Given the description of an element on the screen output the (x, y) to click on. 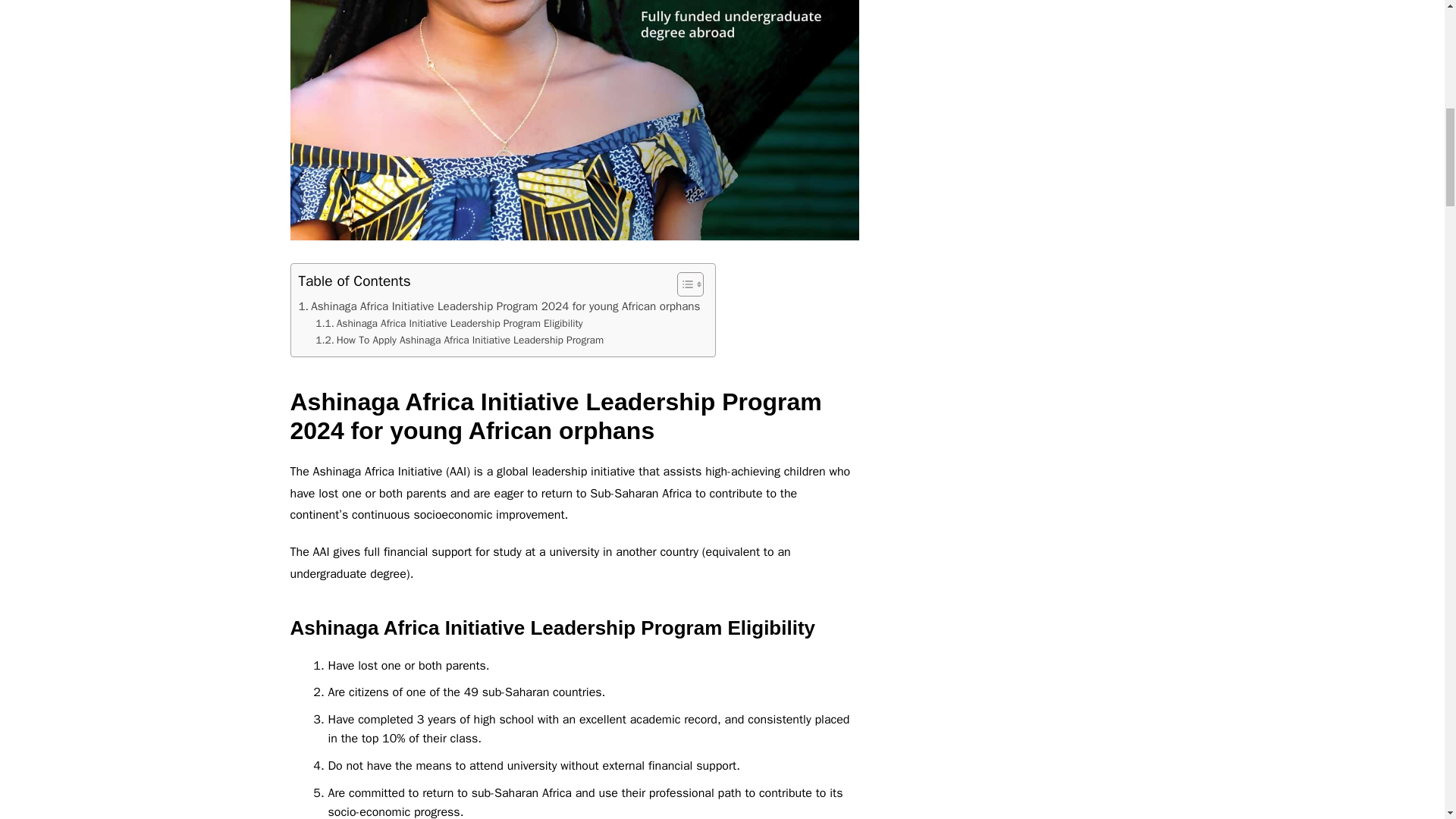
Ashinaga Africa Initiative Leadership Program Eligibility (448, 323)
How To Apply Ashinaga Africa Initiative Leadership Program  (461, 340)
Ashinaga Africa Initiative Leadership Program Eligibility (448, 323)
